Given the description of an element on the screen output the (x, y) to click on. 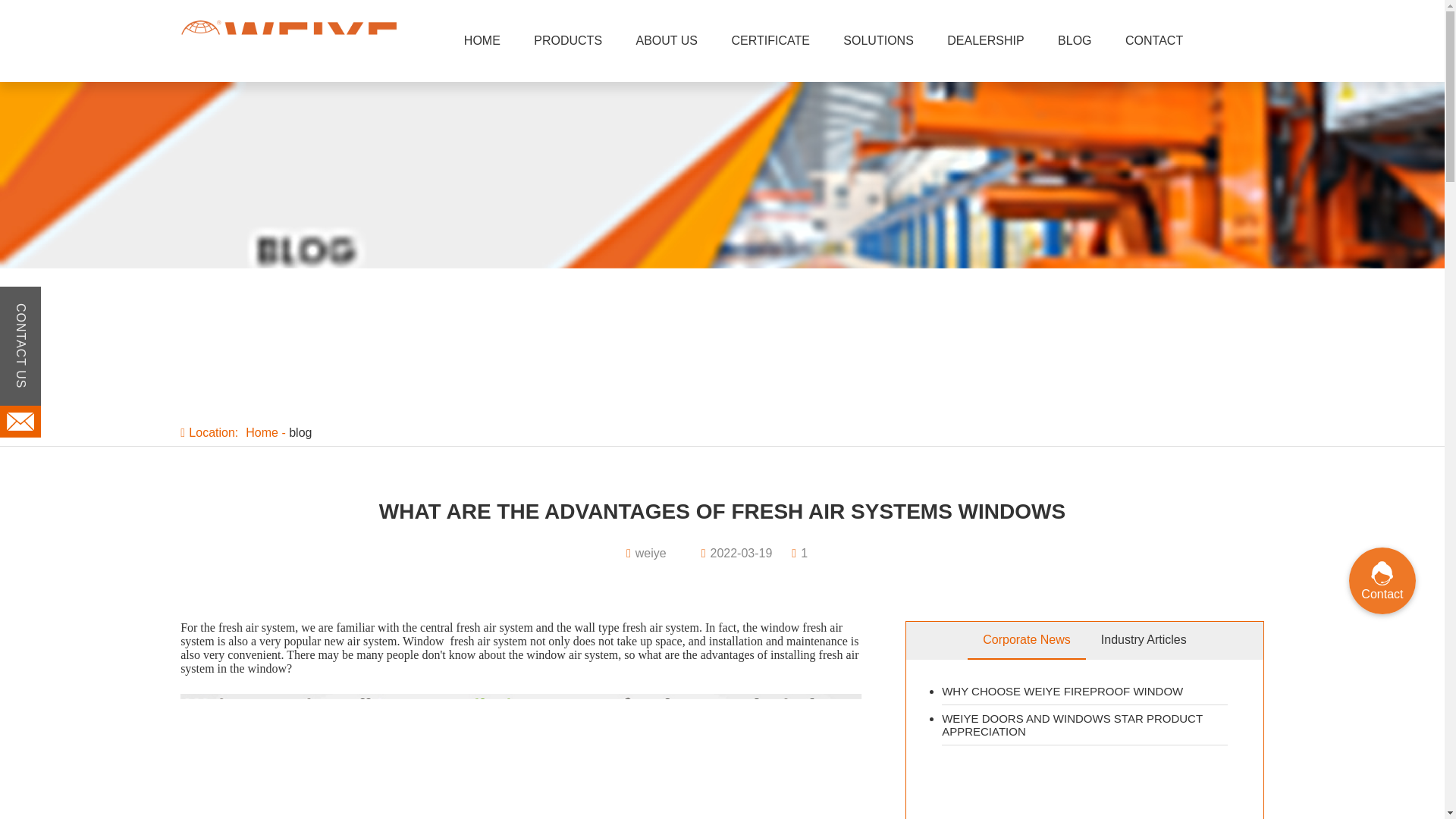
solutions (877, 40)
DEALERSHIP (985, 40)
Home (482, 40)
WEIYE DOORS AND WINDOWS STAR PRODUCT APPRECIATION (1084, 725)
HOME (482, 40)
CERTIFICATE (769, 40)
CONTACT (1153, 40)
ABOUT US (667, 40)
PRODUCTS (568, 40)
SOLUTIONS (877, 40)
BLOG (1074, 40)
Home (262, 431)
dealership (985, 40)
WHY CHOOSE WEIYE FIREPROOF WINDOW (1084, 691)
Products (568, 40)
